Given the description of an element on the screen output the (x, y) to click on. 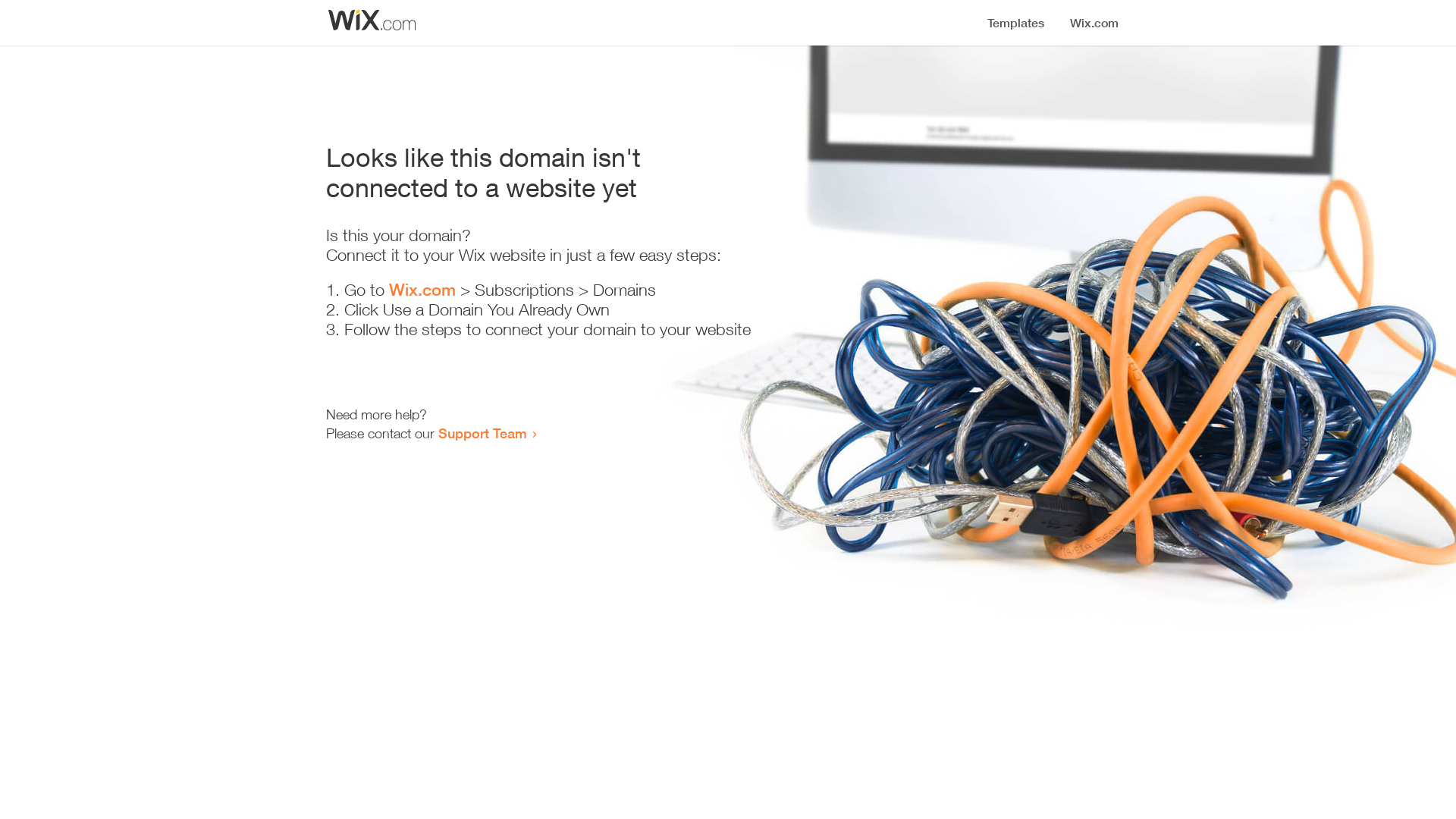
Support Team Element type: text (482, 432)
Wix.com Element type: text (422, 289)
